Given the description of an element on the screen output the (x, y) to click on. 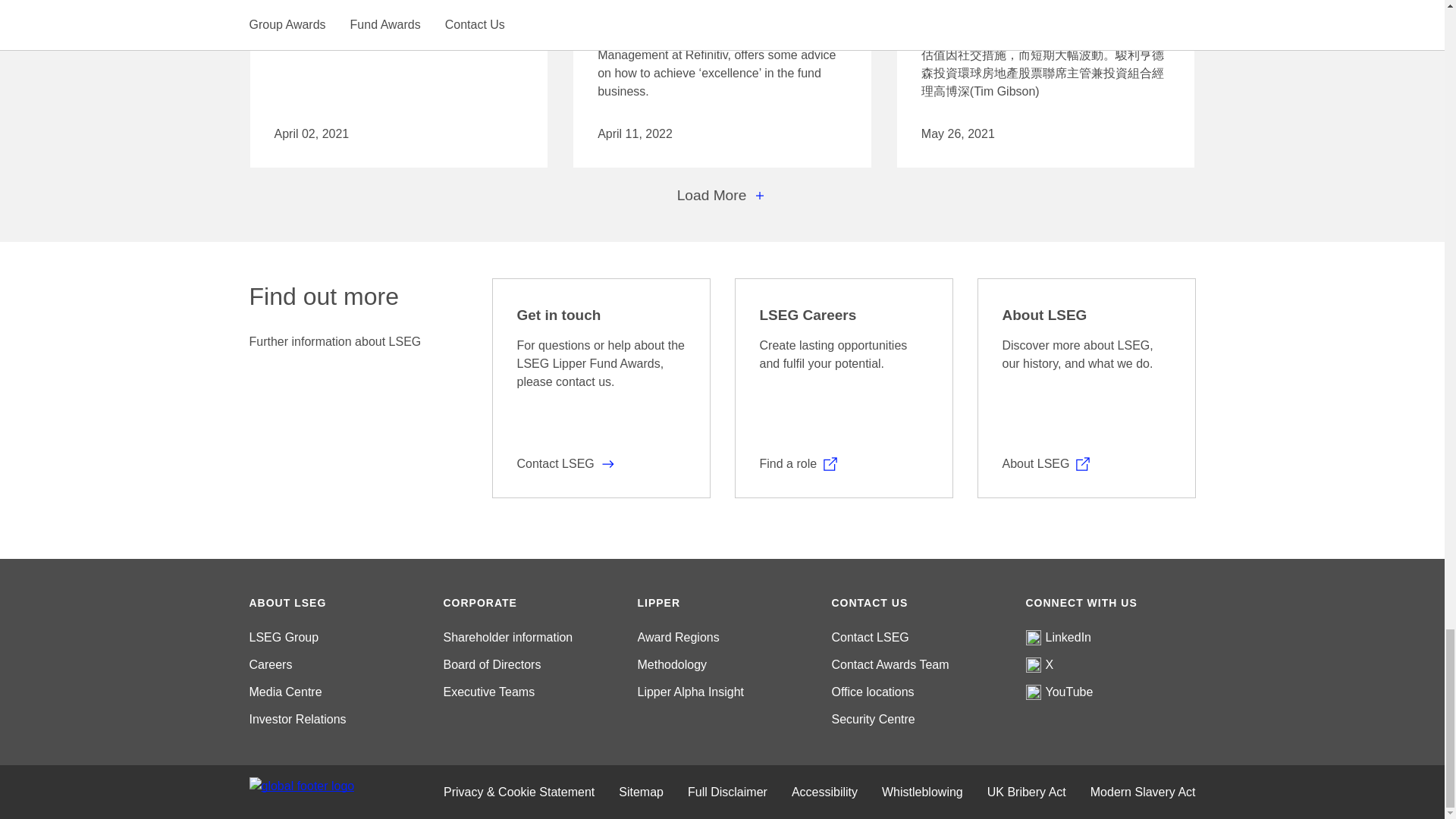
arrow-right (607, 463)
external (830, 463)
external (1082, 463)
